Given the description of an element on the screen output the (x, y) to click on. 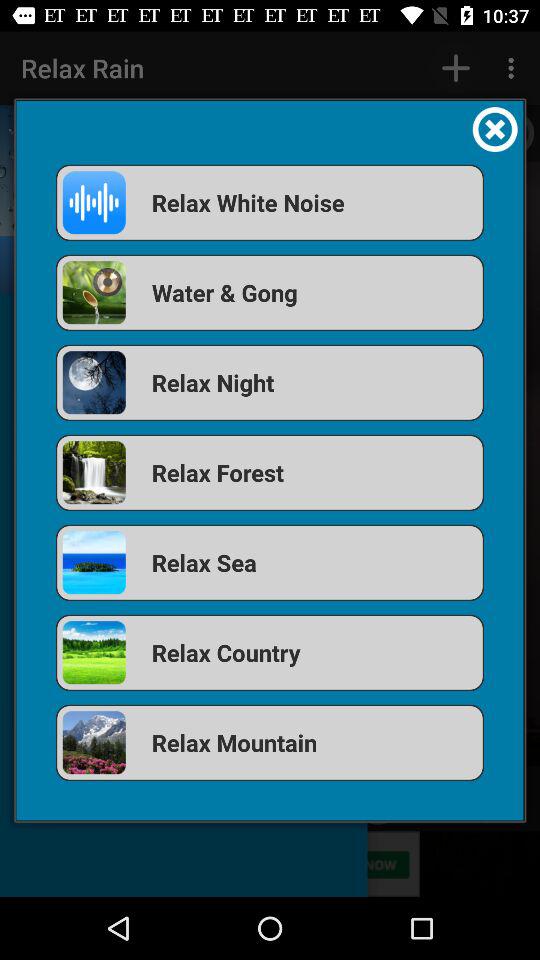
turn on item above the relax country item (269, 562)
